Given the description of an element on the screen output the (x, y) to click on. 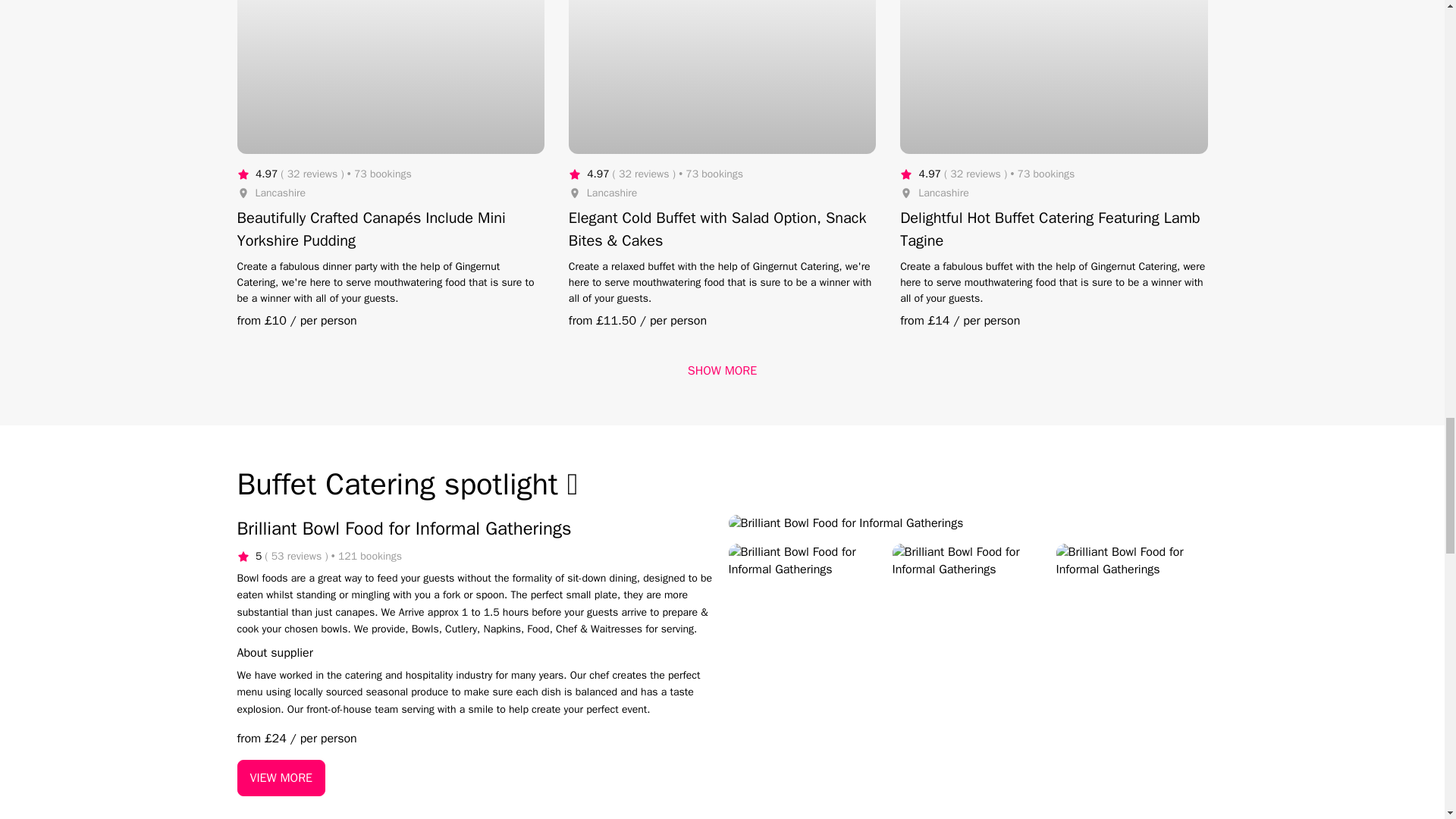
VIEW MORE (279, 778)
SHOW MORE (721, 370)
